Given the description of an element on the screen output the (x, y) to click on. 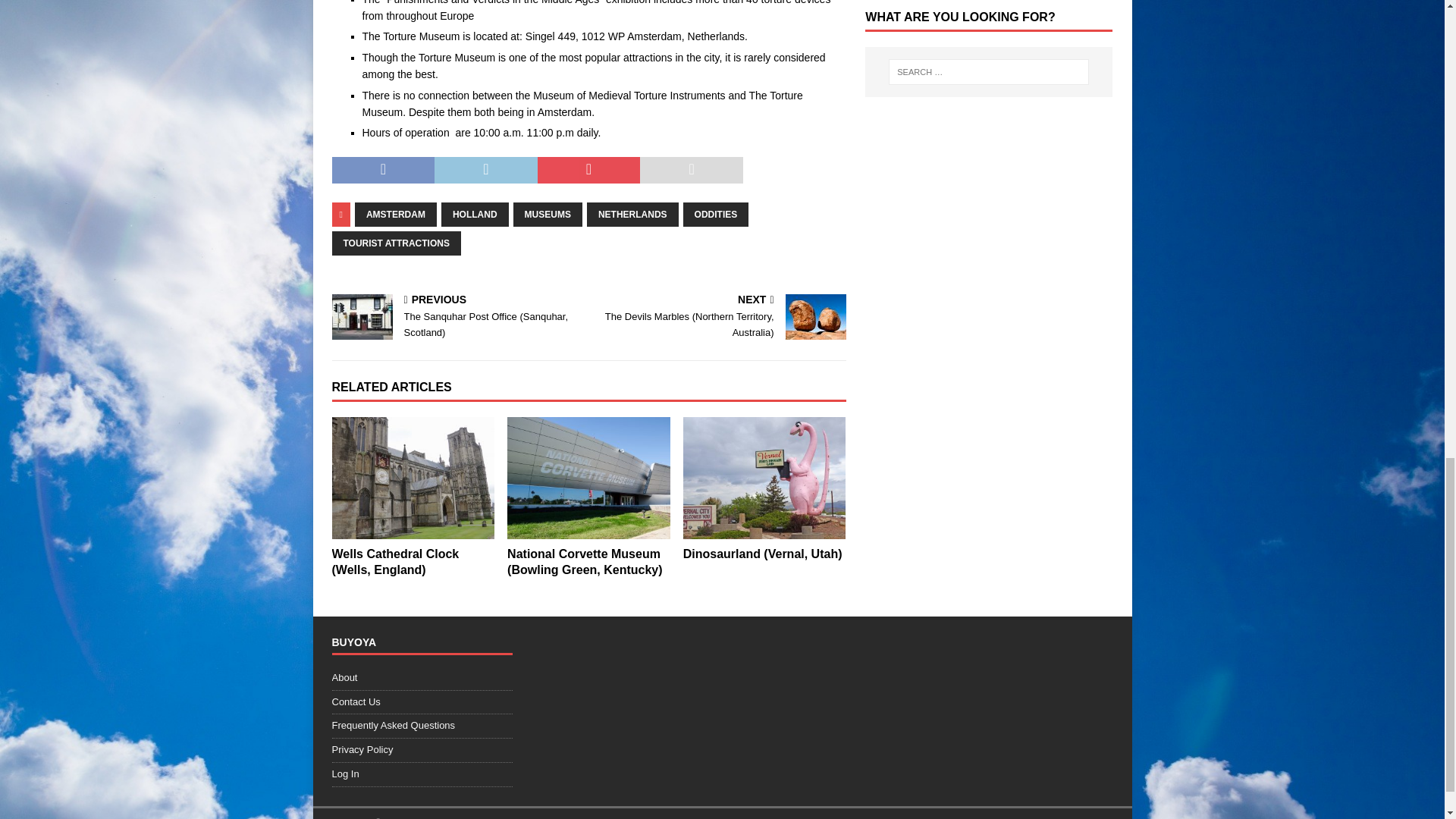
AMSTERDAM (395, 214)
HOLLAND (474, 214)
MUSEUMS (547, 214)
ODDITIES (715, 214)
TOURIST ATTRACTIONS (396, 242)
NETHERLANDS (632, 214)
